Given the description of an element on the screen output the (x, y) to click on. 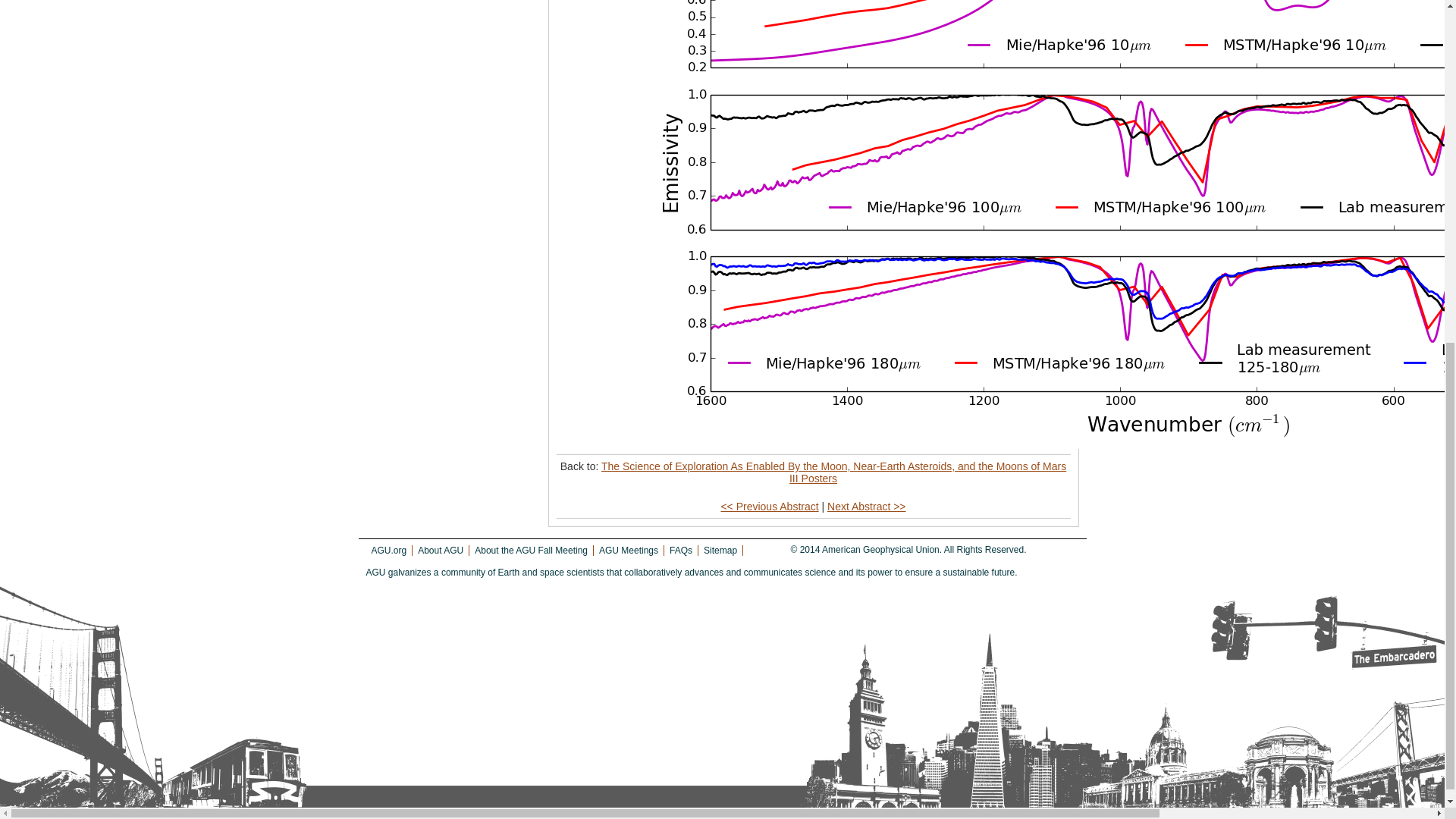
About the AGU Fall Meeting (531, 550)
Sitemap (719, 550)
About AGU (440, 550)
FAQs (681, 550)
AGU.org (389, 550)
AGU Meetings (628, 550)
